Given the description of an element on the screen output the (x, y) to click on. 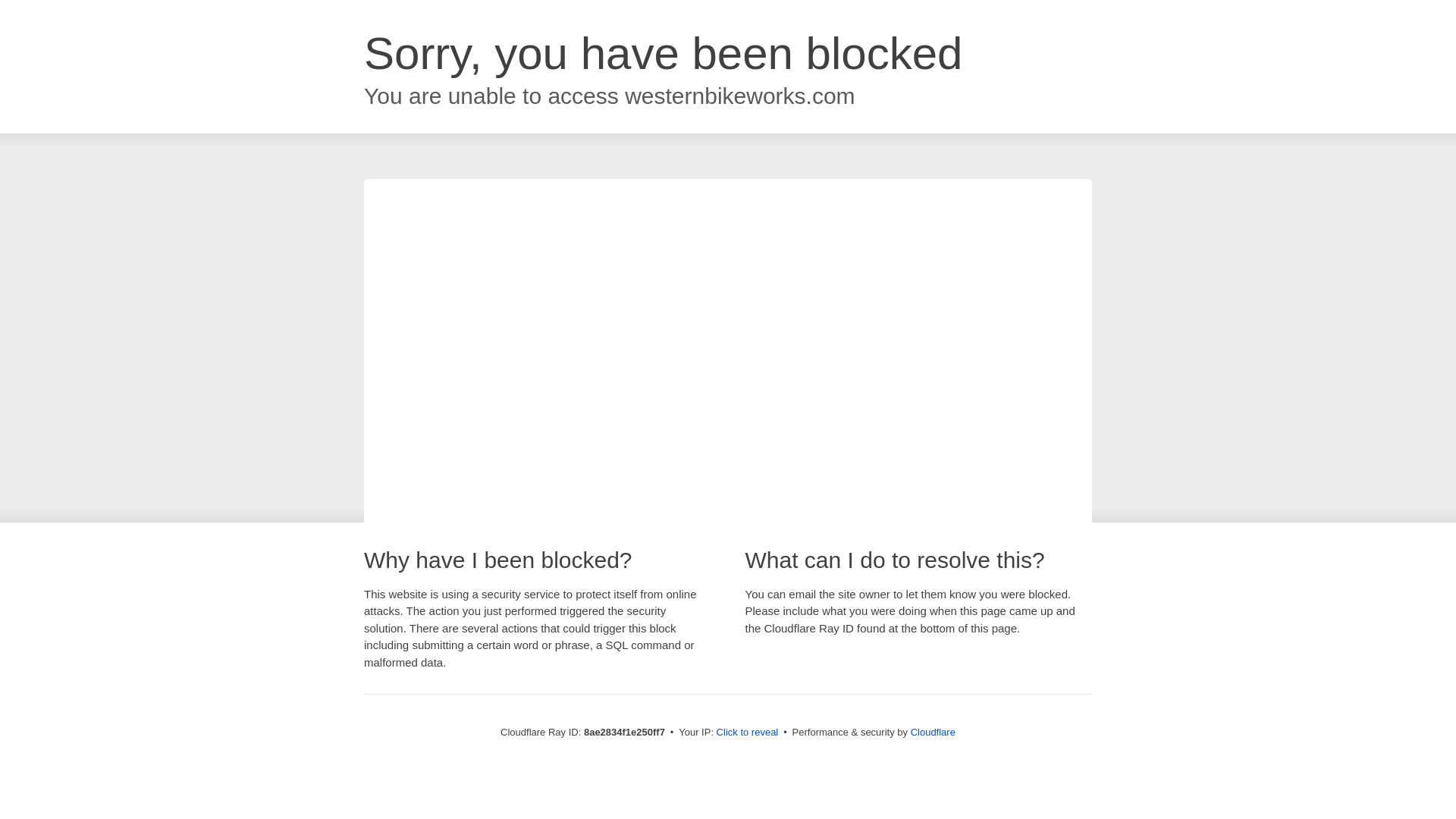
Click to reveal (747, 732)
Cloudflare (933, 731)
